Given the description of an element on the screen output the (x, y) to click on. 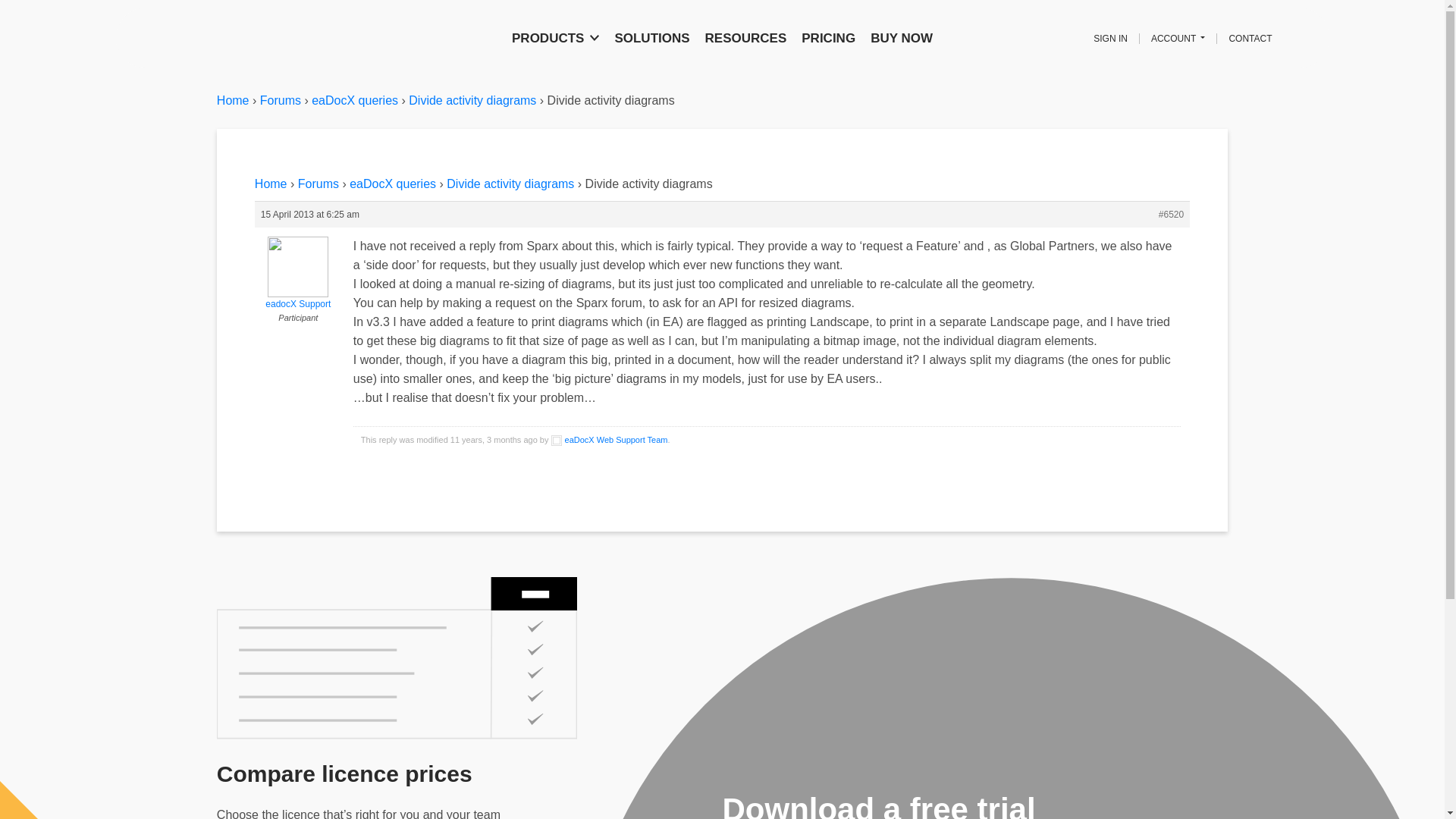
SOLUTIONS (652, 37)
RESOURCES (745, 37)
ACCOUNT (1178, 38)
PRICING (828, 37)
CONTACT (1249, 38)
SIGN IN (1110, 38)
BUY NOW (901, 37)
